Given the description of an element on the screen output the (x, y) to click on. 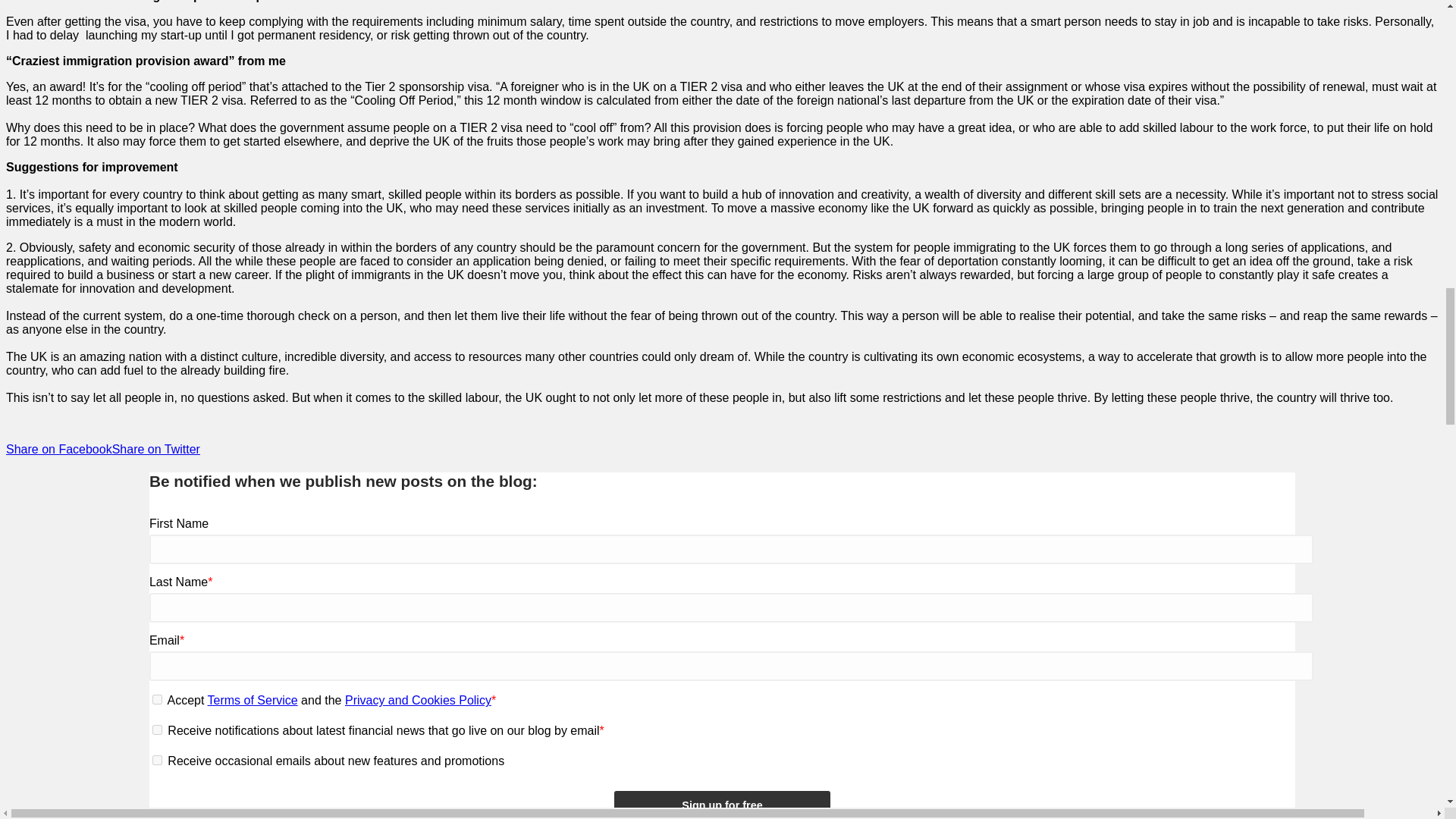
Terms of Service (253, 699)
Share on Facebook (58, 449)
Sign up for free (721, 805)
Share on Twitter (156, 449)
on (156, 759)
Privacy and Cookies Policy (418, 699)
on (156, 699)
Sign up for free (721, 805)
on (156, 729)
